Given the description of an element on the screen output the (x, y) to click on. 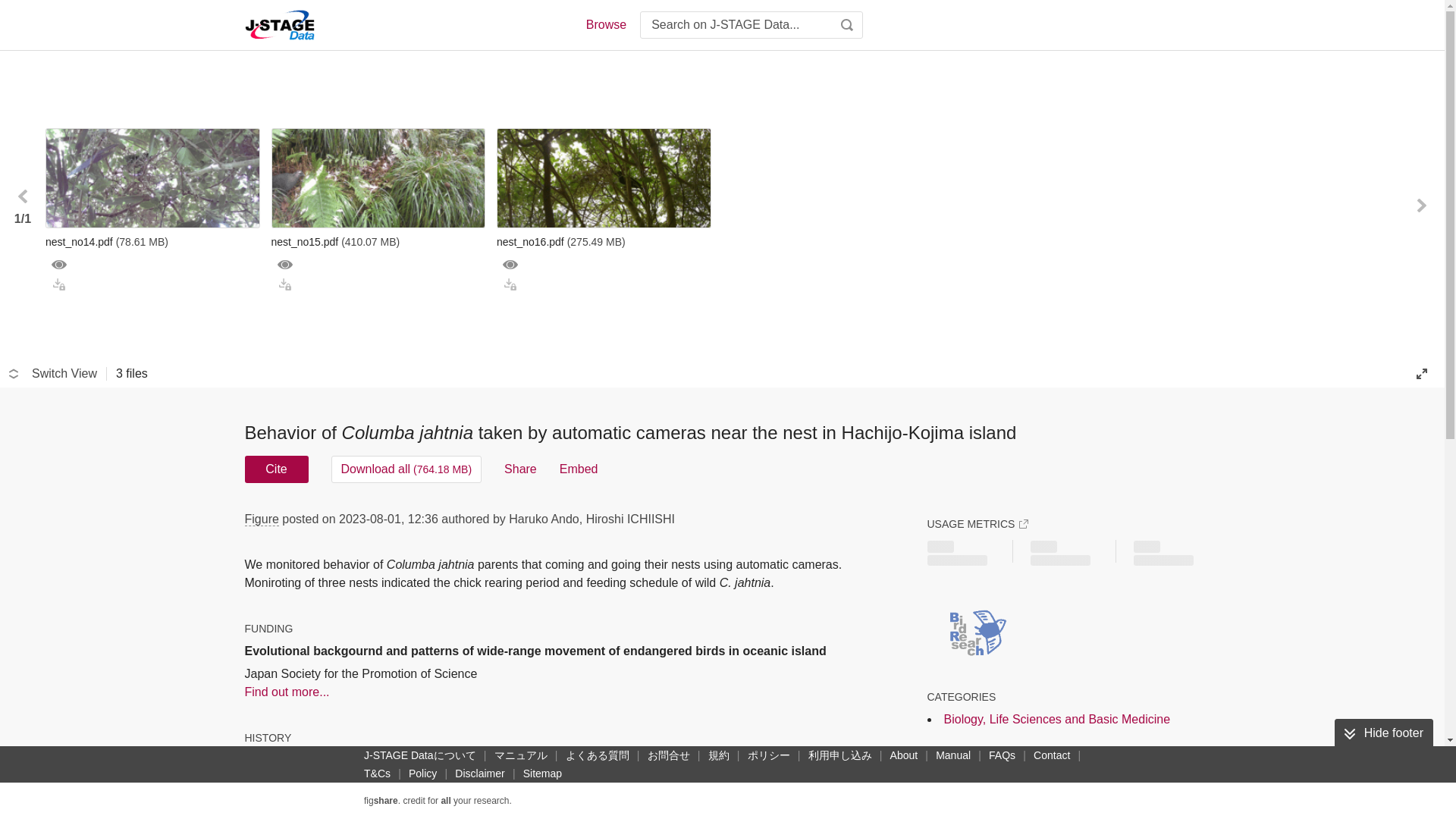
Switch View (52, 373)
Share (520, 469)
Browse (605, 24)
Find out more... (569, 692)
Cite (275, 469)
automatic camera (984, 789)
USAGE METRICS (976, 523)
Biology, Life Sciences and Basic Medicine (1056, 718)
Columba janthina (1109, 789)
Embed (578, 469)
